Given the description of an element on the screen output the (x, y) to click on. 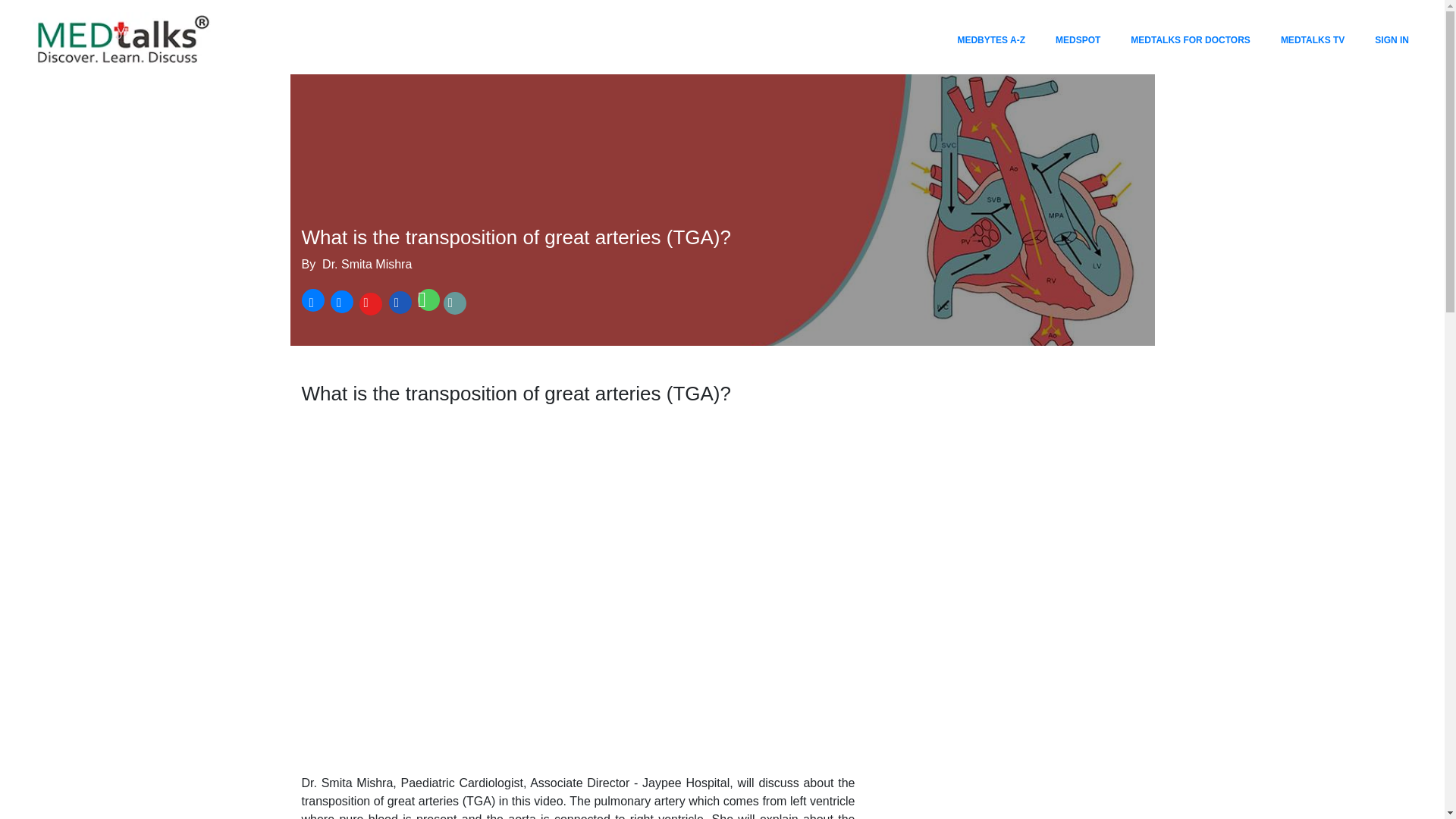
share on Google-plus (368, 302)
share on Facebook (312, 302)
MEDTALKS FOR DOCTORS (1190, 40)
MEDTALKS TV (1313, 40)
share on whatsapp (426, 302)
MEDBYTES A-Z (990, 40)
MEDSPOT (1077, 40)
share on Linkdin (398, 302)
share on Reddit (454, 302)
SIGN IN (1391, 40)
share on twitter (340, 302)
